Given the description of an element on the screen output the (x, y) to click on. 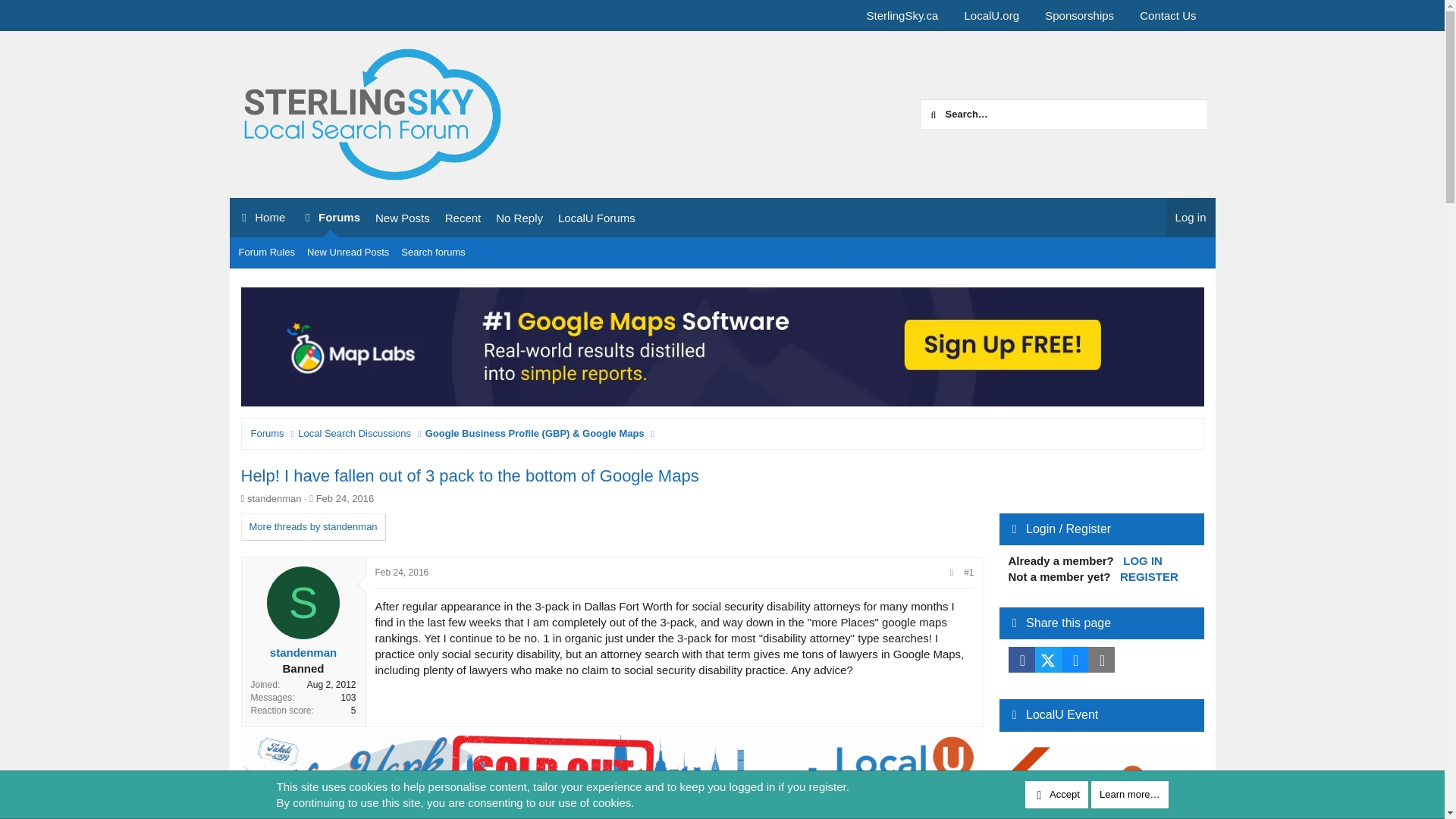
SterlingSky.ca LocalU.org Sponsorships Contact Us (435, 234)
Contact Us (1032, 32)
New Unread Posts (1167, 15)
SterlingSky.ca (347, 251)
Home (903, 15)
Forums (260, 217)
Search forums (330, 217)
Recent (432, 251)
Local Search Discussions (463, 218)
LocalU Forums (354, 433)
Forums (596, 218)
Forum Rules (266, 433)
